Given the description of an element on the screen output the (x, y) to click on. 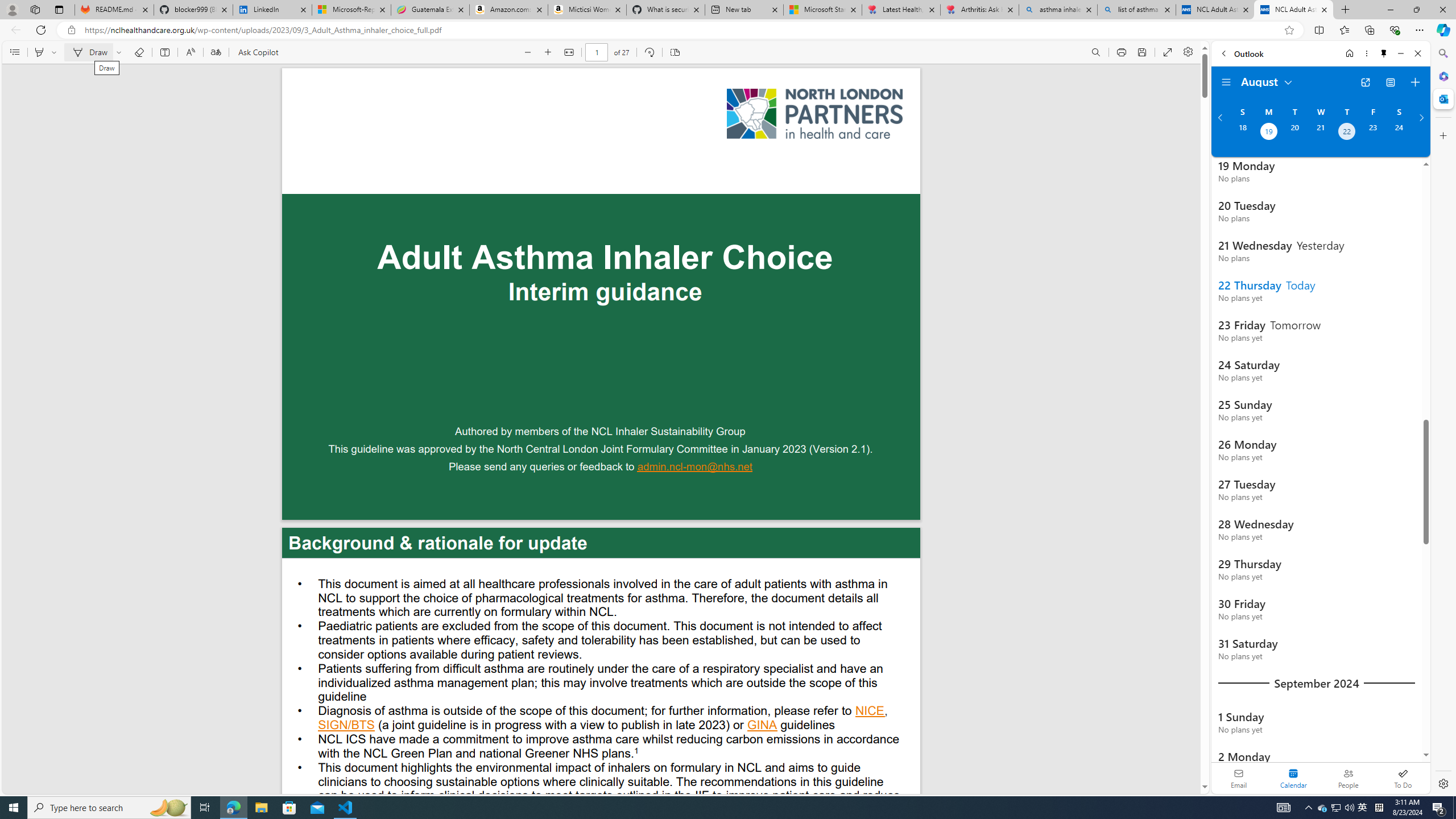
Ask Copilot (257, 52)
PDF bar (601, 51)
People (1347, 777)
Zoom in (Ctrl+Plus key) (548, 52)
